Given the description of an element on the screen output the (x, y) to click on. 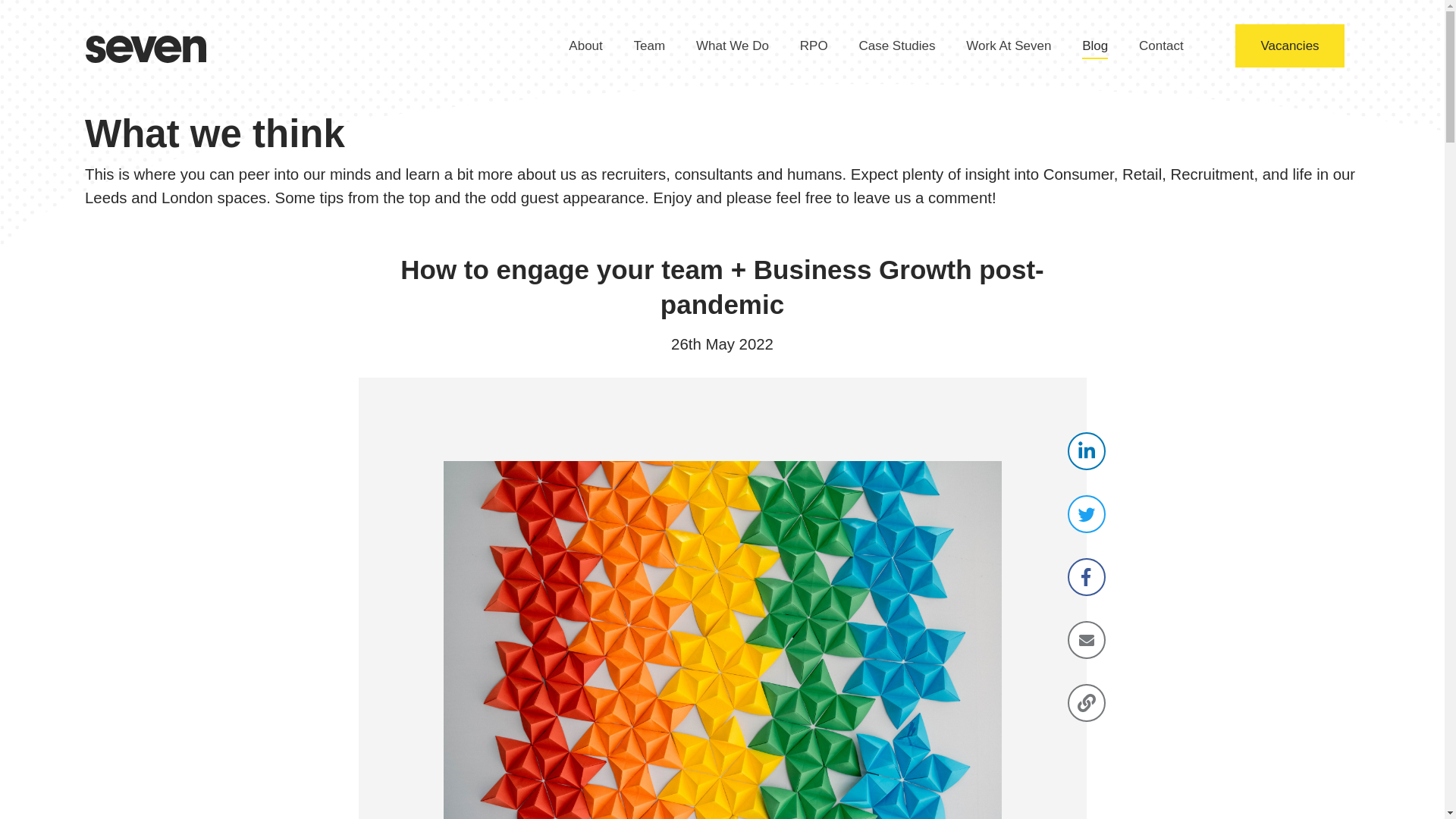
Contact (1160, 45)
About (585, 45)
Blog (1094, 45)
Work At Seven (1008, 45)
Vacancies (1288, 45)
What We Do (731, 45)
Team (649, 45)
Case Studies (896, 45)
RPO (813, 45)
